Given the description of an element on the screen output the (x, y) to click on. 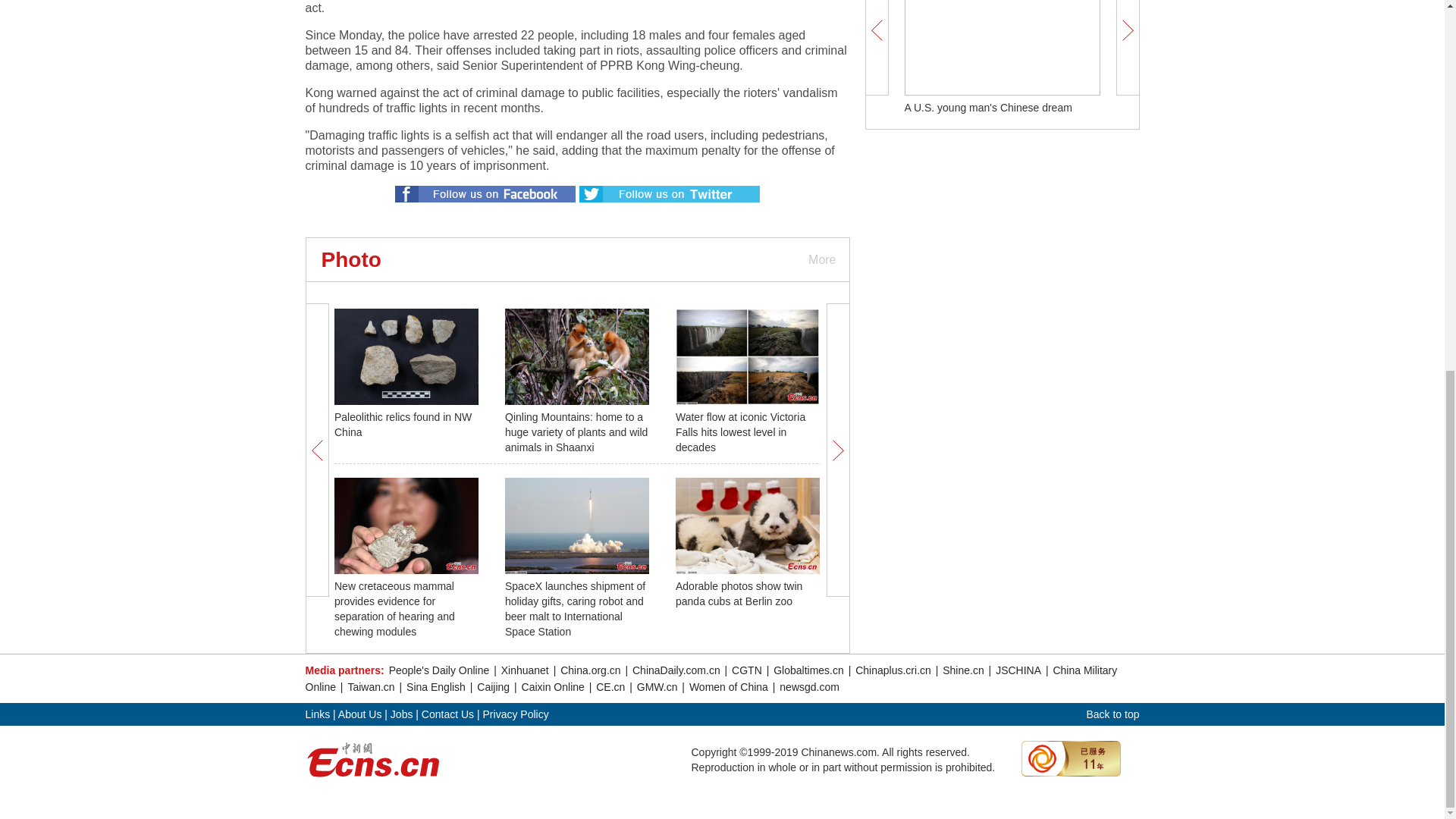
Adorable photos show twin panda cubs at Berlin zoo (738, 593)
Paleolithic relics found in NW China (402, 424)
